Given the description of an element on the screen output the (x, y) to click on. 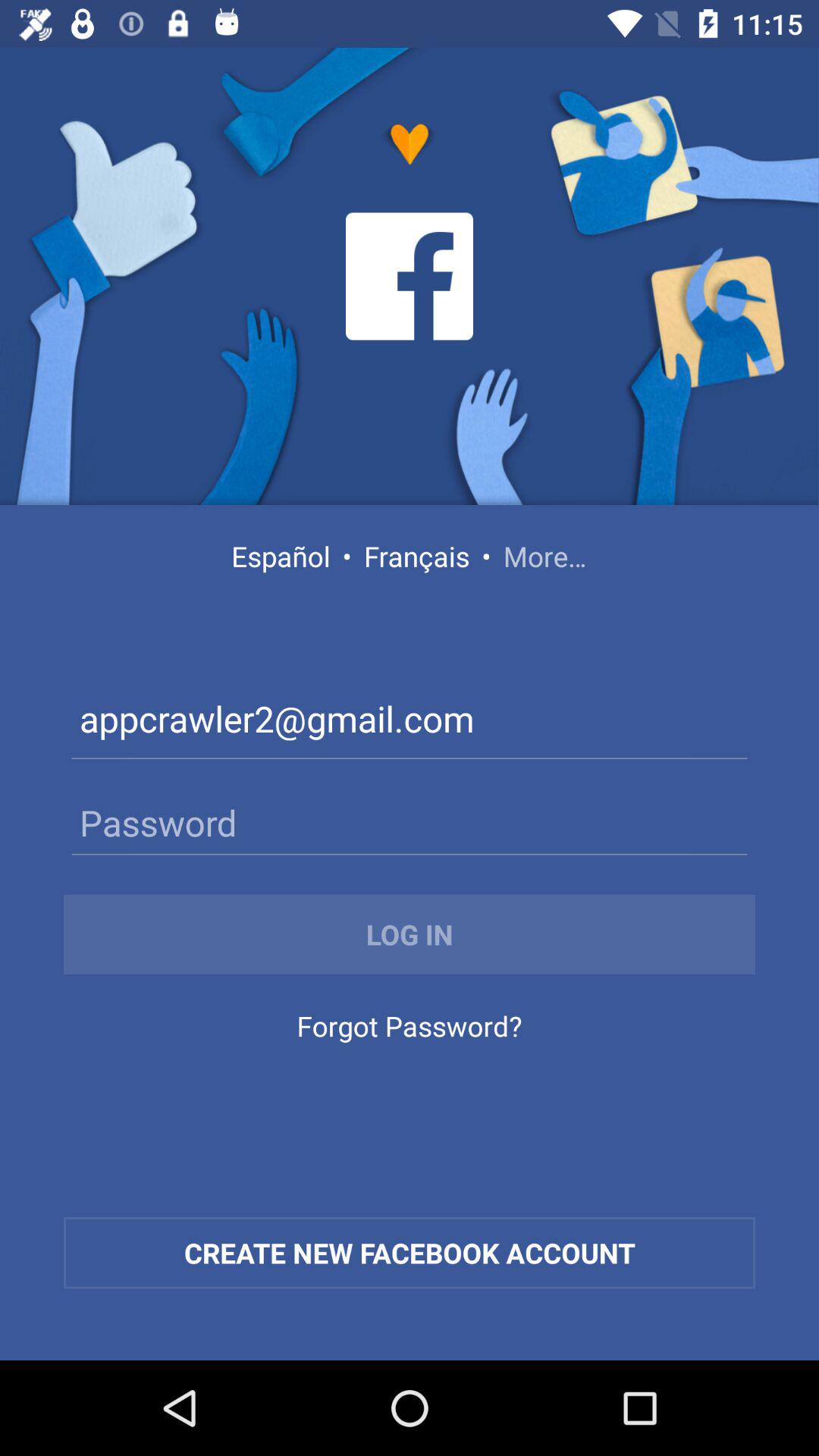
enter password (409, 822)
